Given the description of an element on the screen output the (x, y) to click on. 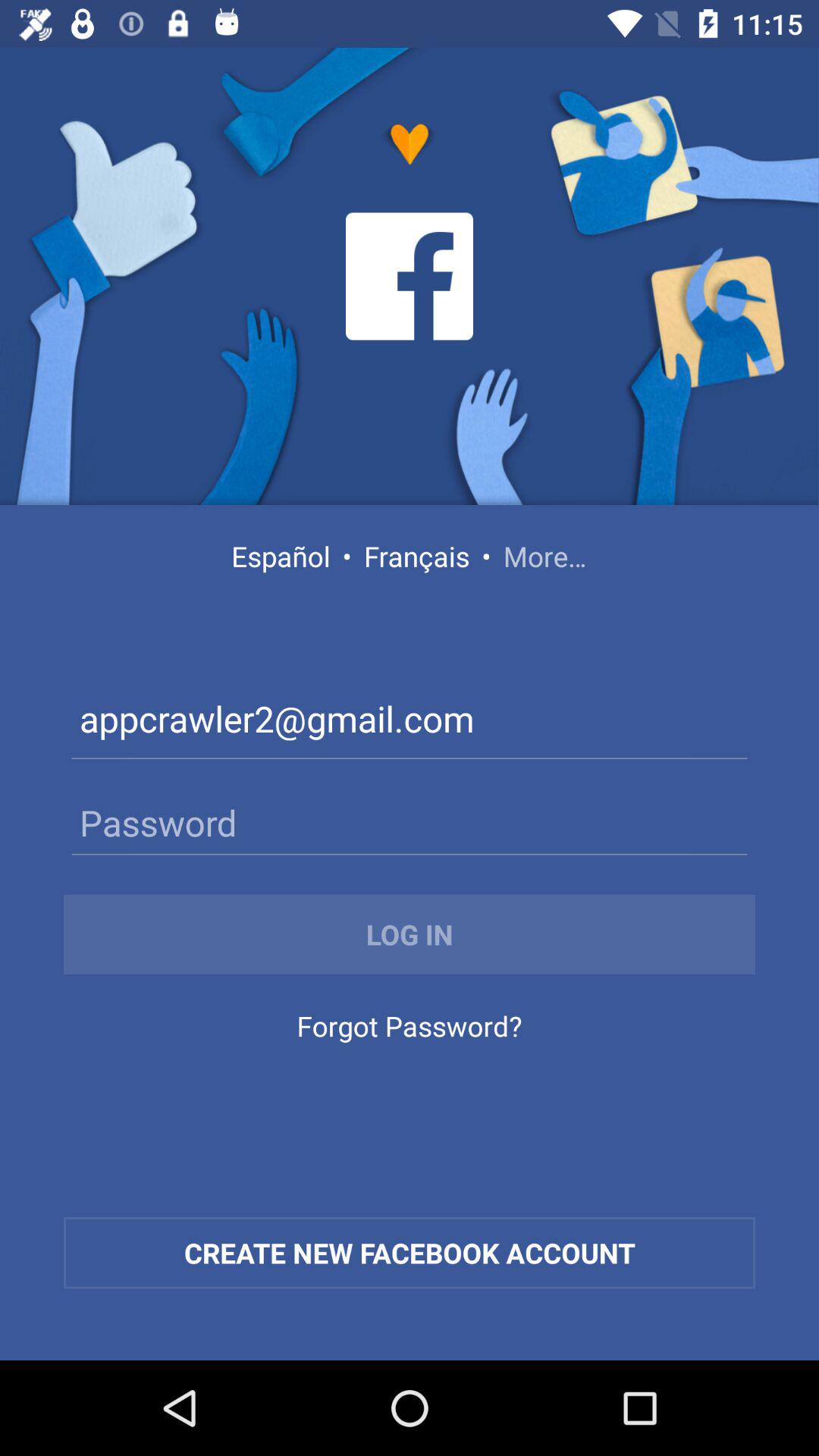
enter password (409, 822)
